Given the description of an element on the screen output the (x, y) to click on. 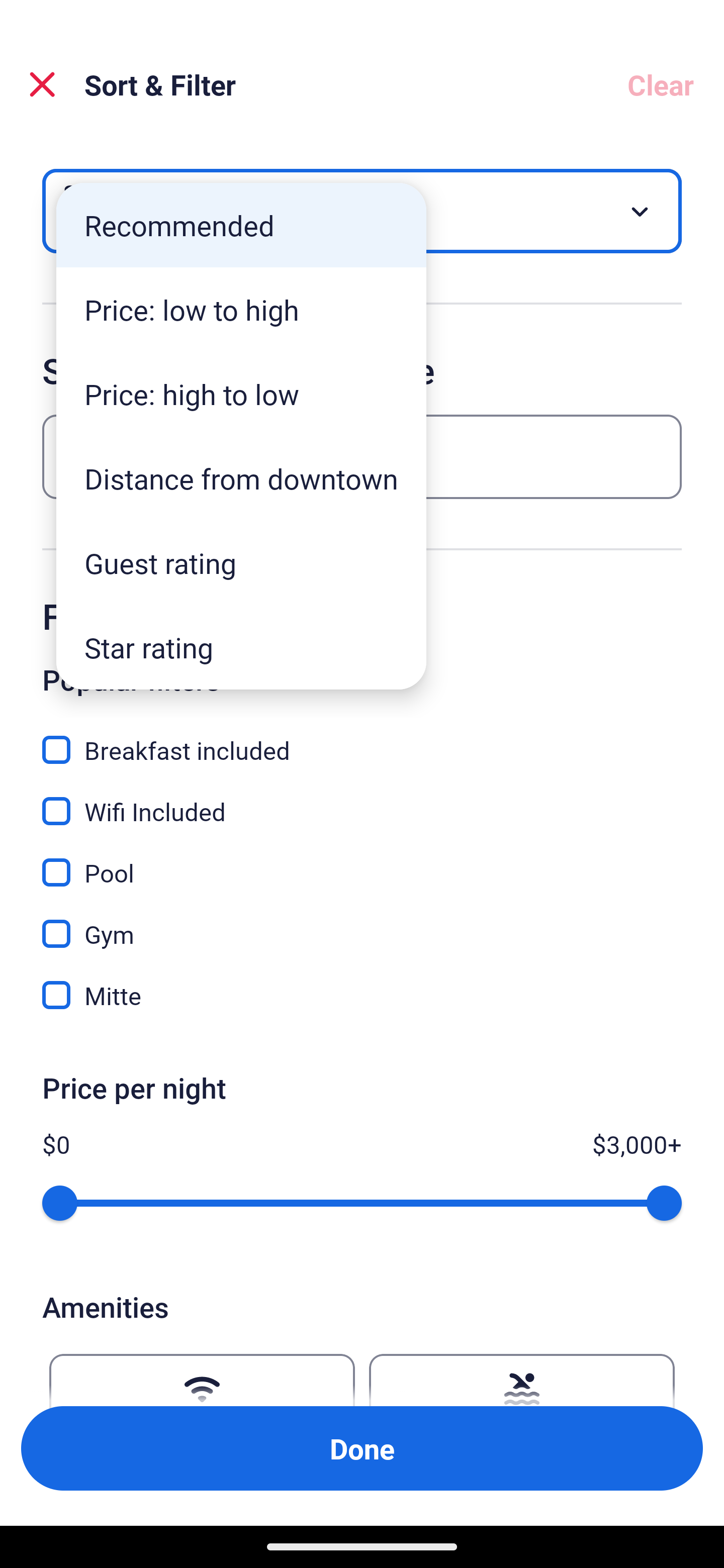
Price: low to high (241, 309)
Price: high to low (241, 393)
Distance from downtown (241, 477)
Guest rating (241, 562)
Star rating (241, 647)
